Given the description of an element on the screen output the (x, y) to click on. 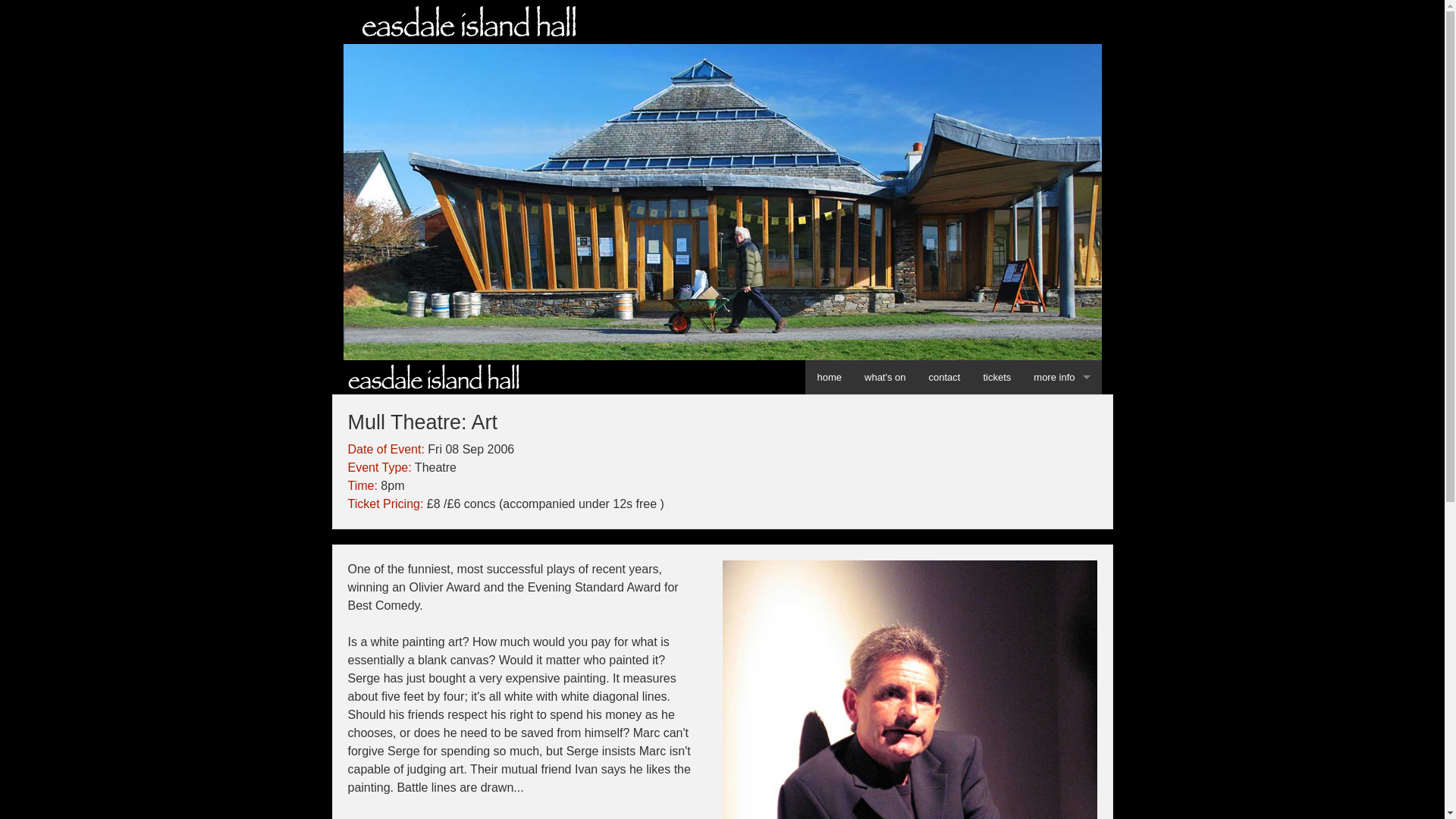
more info (1061, 376)
photo gallery (1061, 547)
contact (944, 376)
hall facilities (1061, 513)
background (1061, 581)
home (829, 376)
how to find us (1061, 410)
what's on (885, 376)
hall diary (1061, 479)
tickets (996, 376)
